Given the description of an element on the screen output the (x, y) to click on. 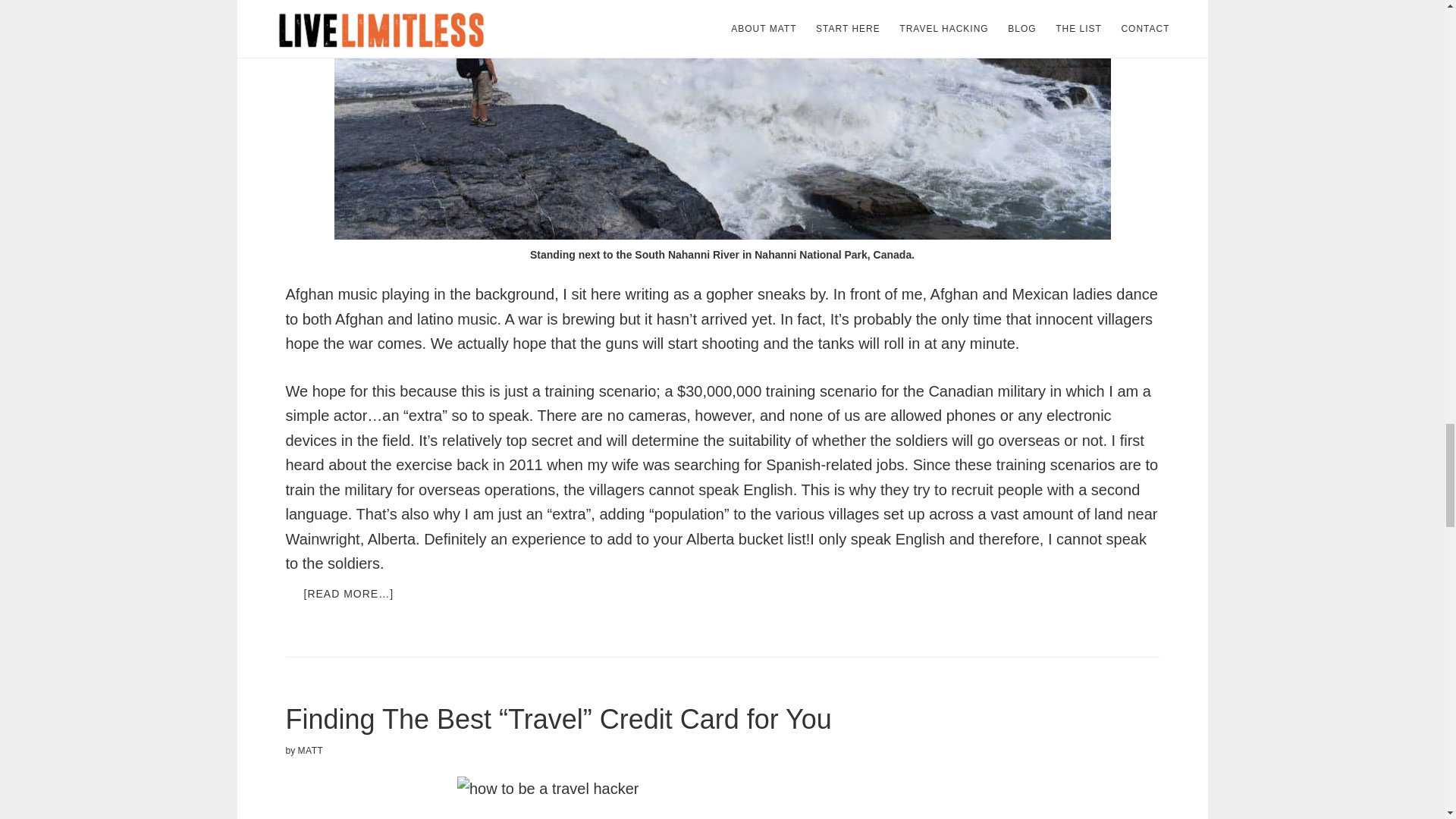
Alberta bucket list (745, 538)
MATT (310, 750)
